Given the description of an element on the screen output the (x, y) to click on. 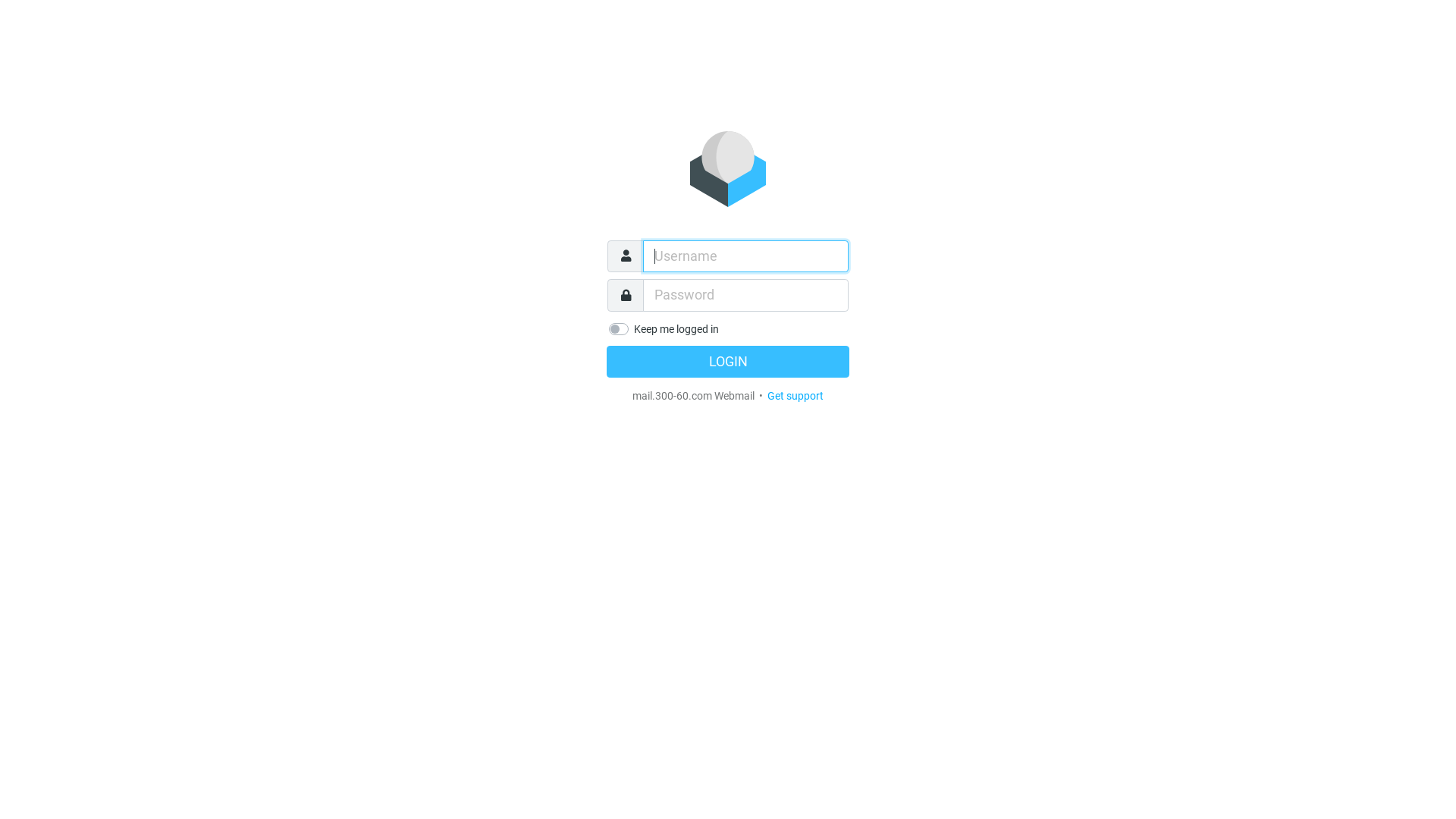
LOGIN Element type: text (727, 361)
Get support Element type: text (795, 395)
